Given the description of an element on the screen output the (x, y) to click on. 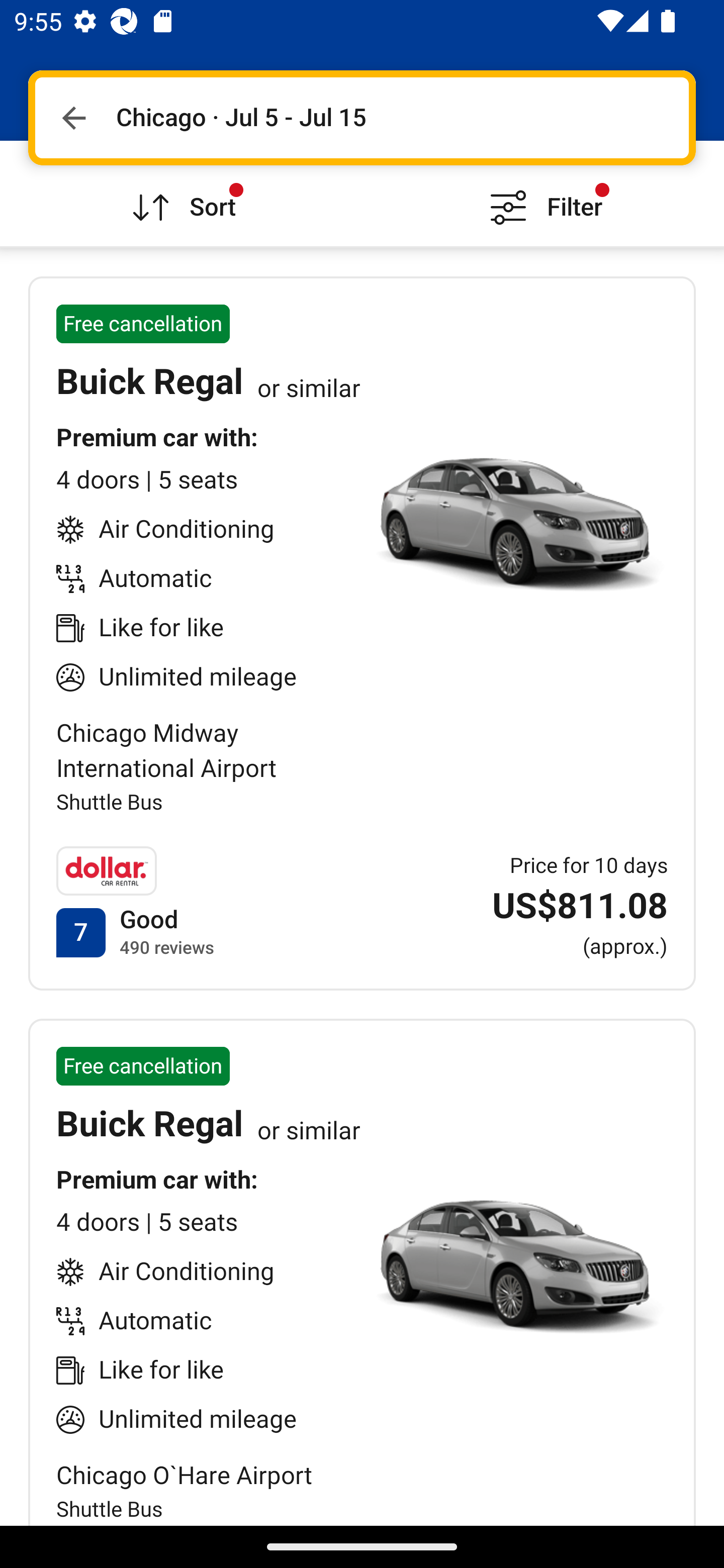
Back to previous screen (73, 117)
Sort (181, 193)
Filter (543, 193)
